Given the description of an element on the screen output the (x, y) to click on. 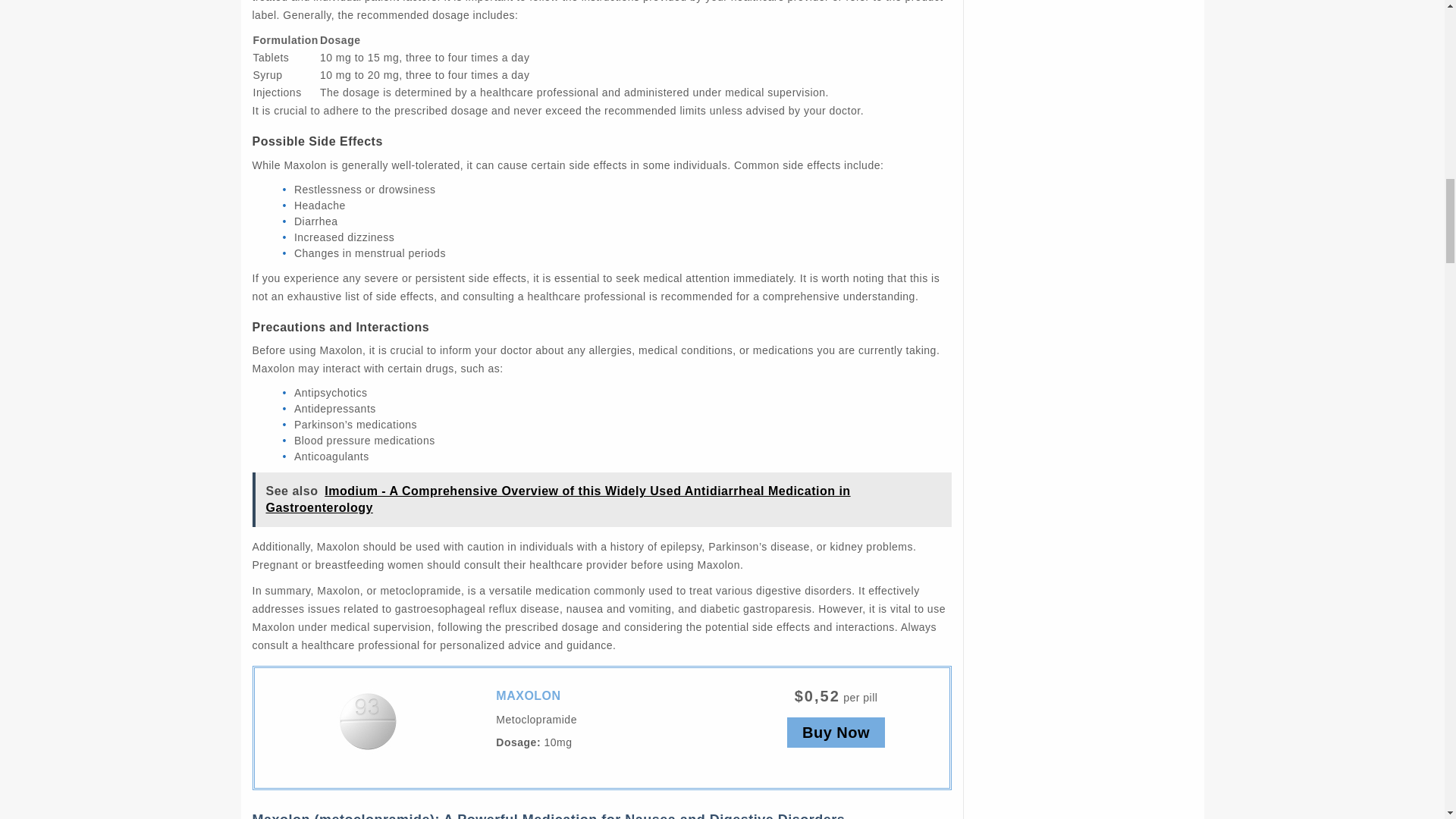
Buy Now (836, 732)
